Given the description of an element on the screen output the (x, y) to click on. 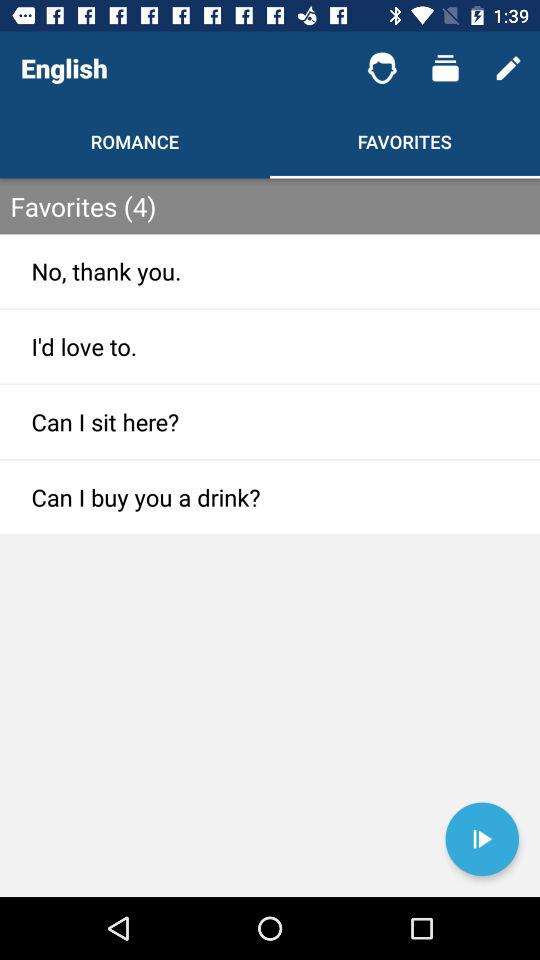
turn off the icon above the favorites (444, 67)
